Given the description of an element on the screen output the (x, y) to click on. 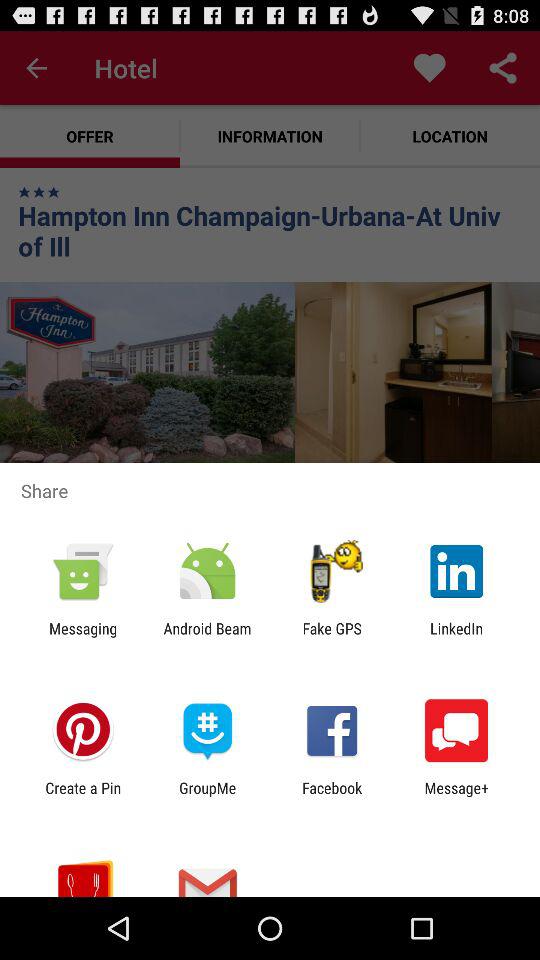
press the messaging item (83, 637)
